Given the description of an element on the screen output the (x, y) to click on. 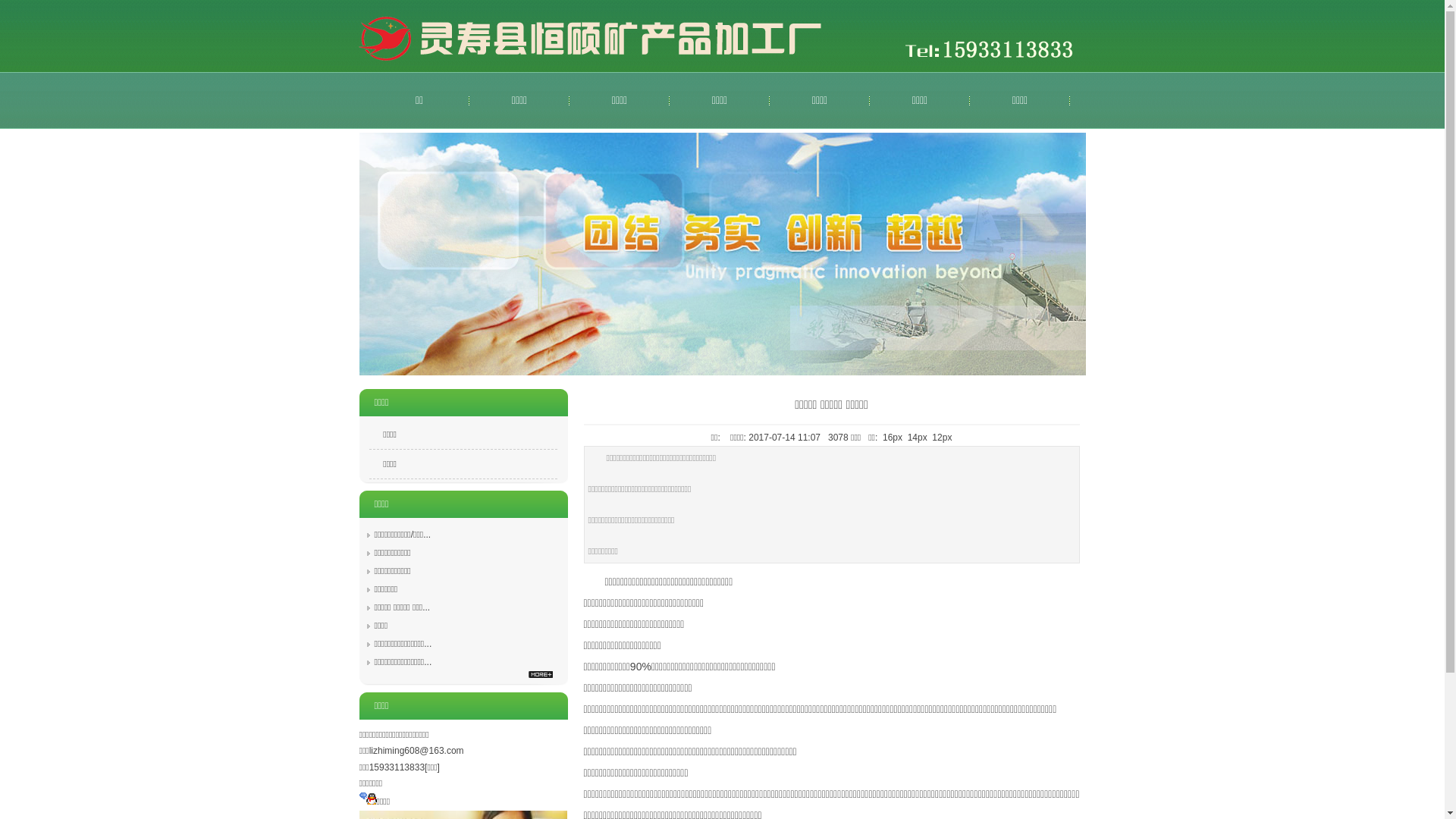
12px Element type: text (941, 437)
16px Element type: text (892, 437)
14px Element type: text (917, 437)
